Given the description of an element on the screen output the (x, y) to click on. 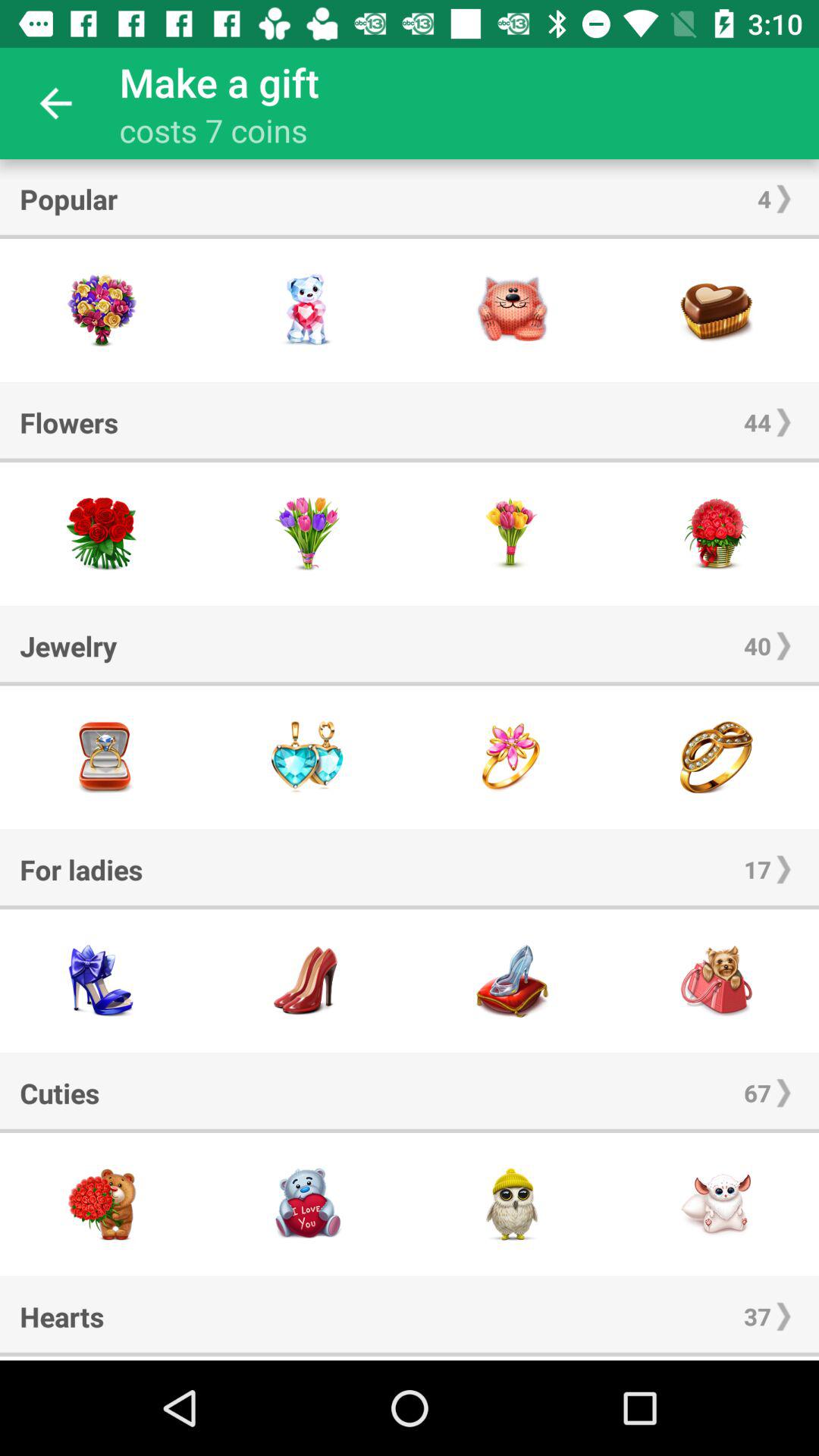
open icon next to 4 (68, 198)
